Given the description of an element on the screen output the (x, y) to click on. 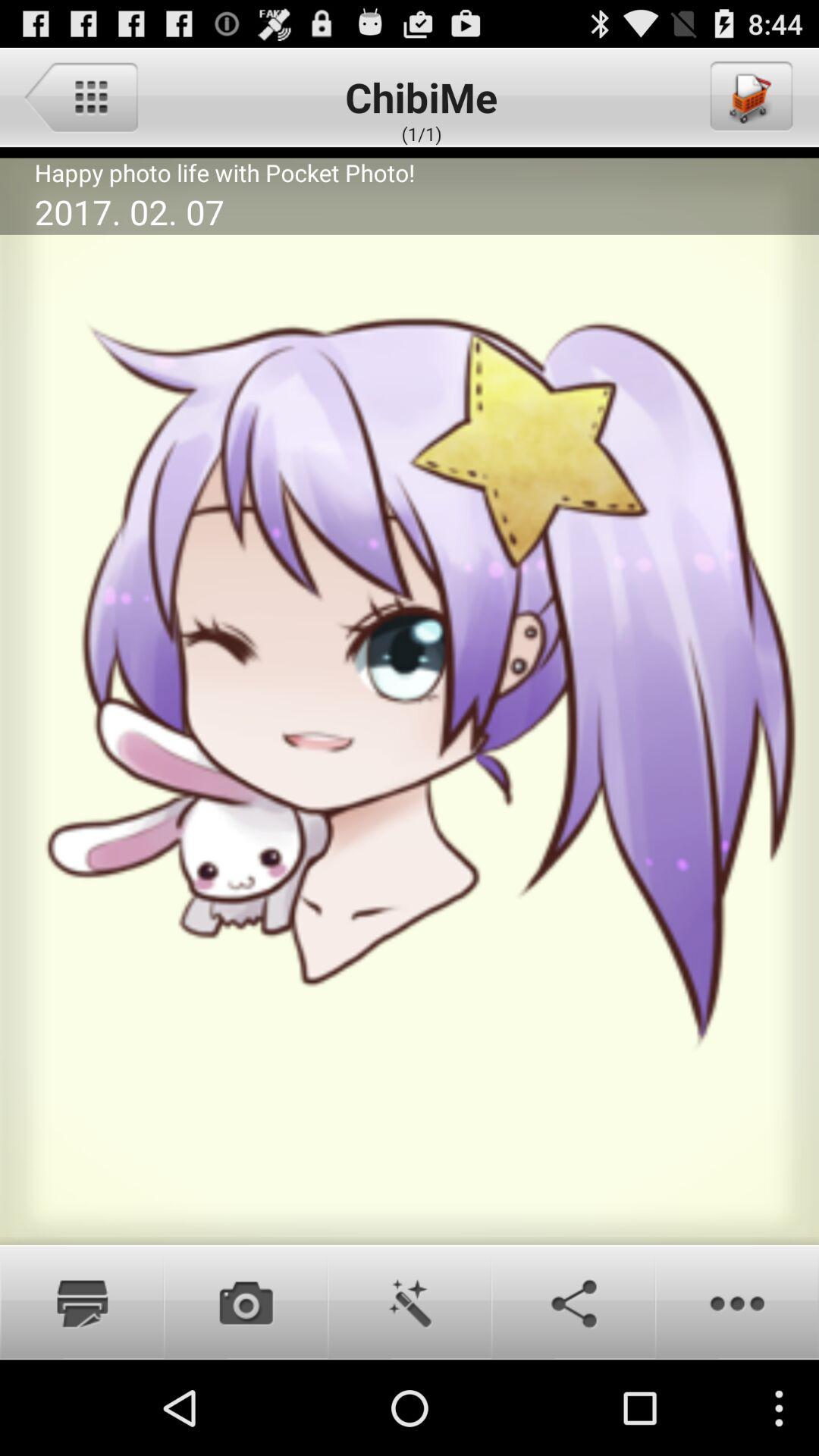
view more options (737, 1301)
